Given the description of an element on the screen output the (x, y) to click on. 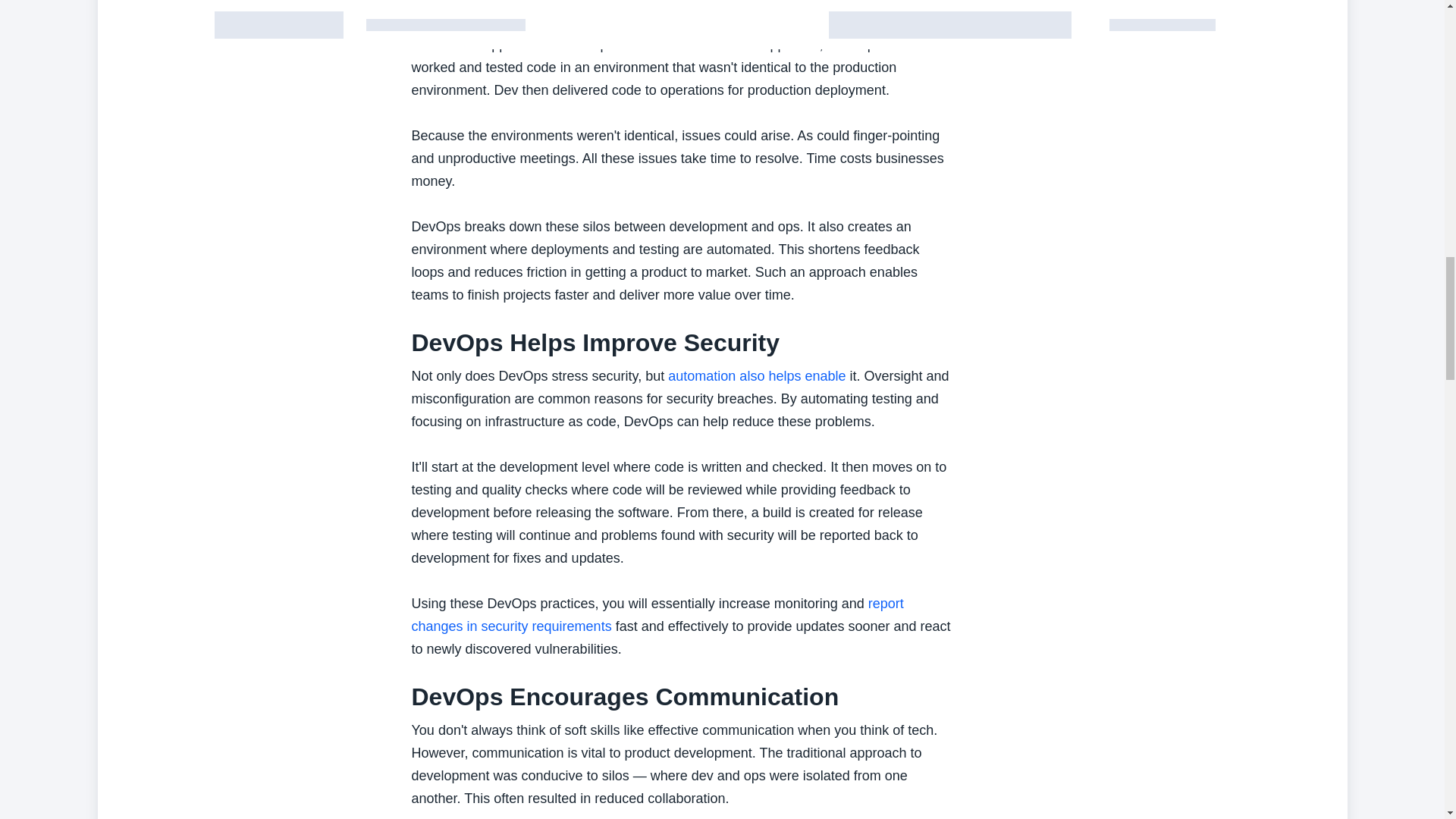
automation also helps enable (756, 376)
report changes in security requirements (656, 614)
